Given the description of an element on the screen output the (x, y) to click on. 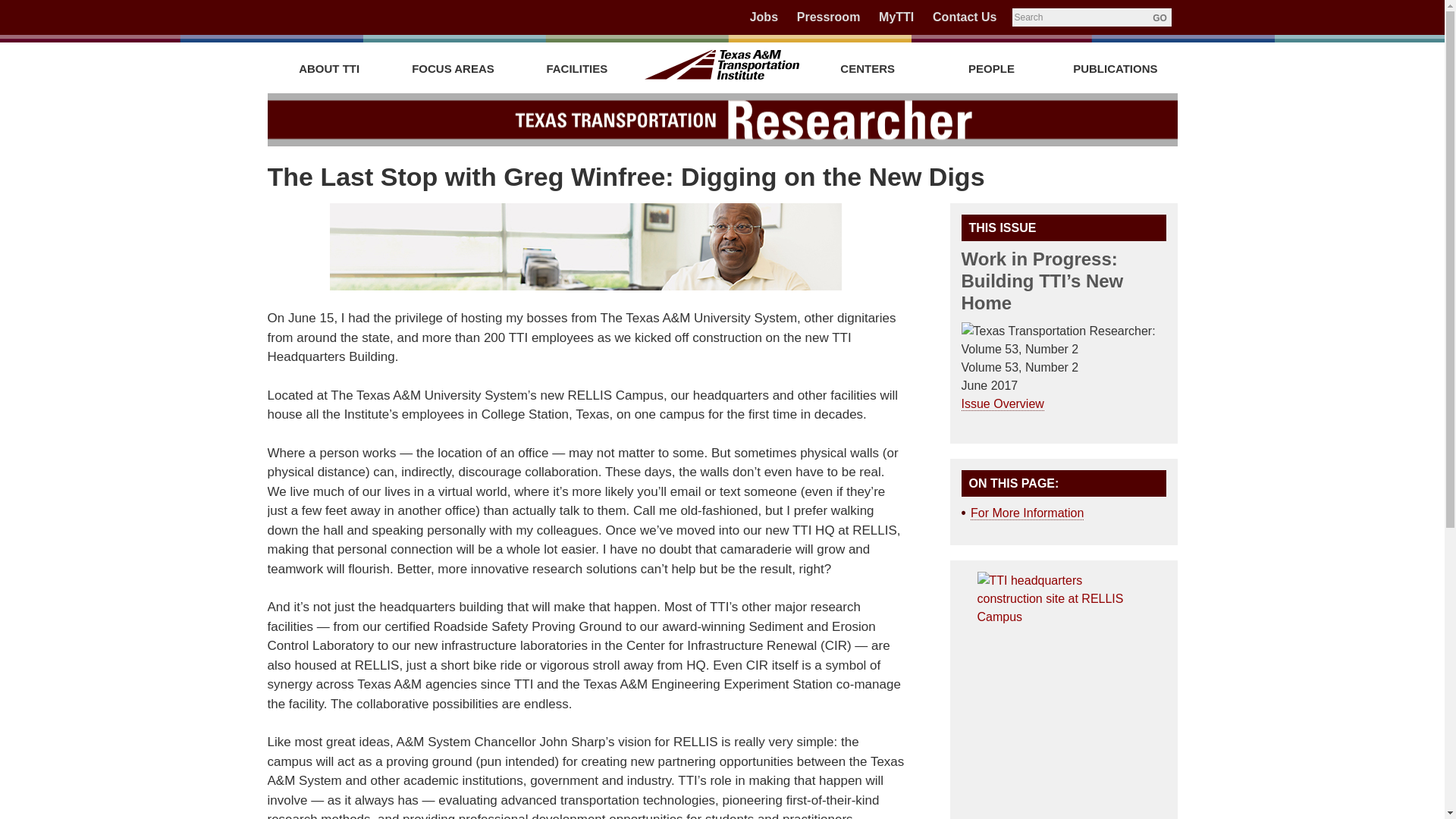
GO (1159, 17)
TTI Instagram (401, 18)
Facebook (295, 18)
FACILITIES (577, 68)
LinkedIn (348, 18)
GO (1159, 17)
ABOUT TTI (328, 68)
FOCUS AREAS (453, 68)
GO (1159, 17)
YouTube (375, 18)
Twitter (322, 18)
TTI YouTube (375, 18)
TTI Facebook (295, 18)
Jobs (763, 16)
Pressroom (828, 16)
